Given the description of an element on the screen output the (x, y) to click on. 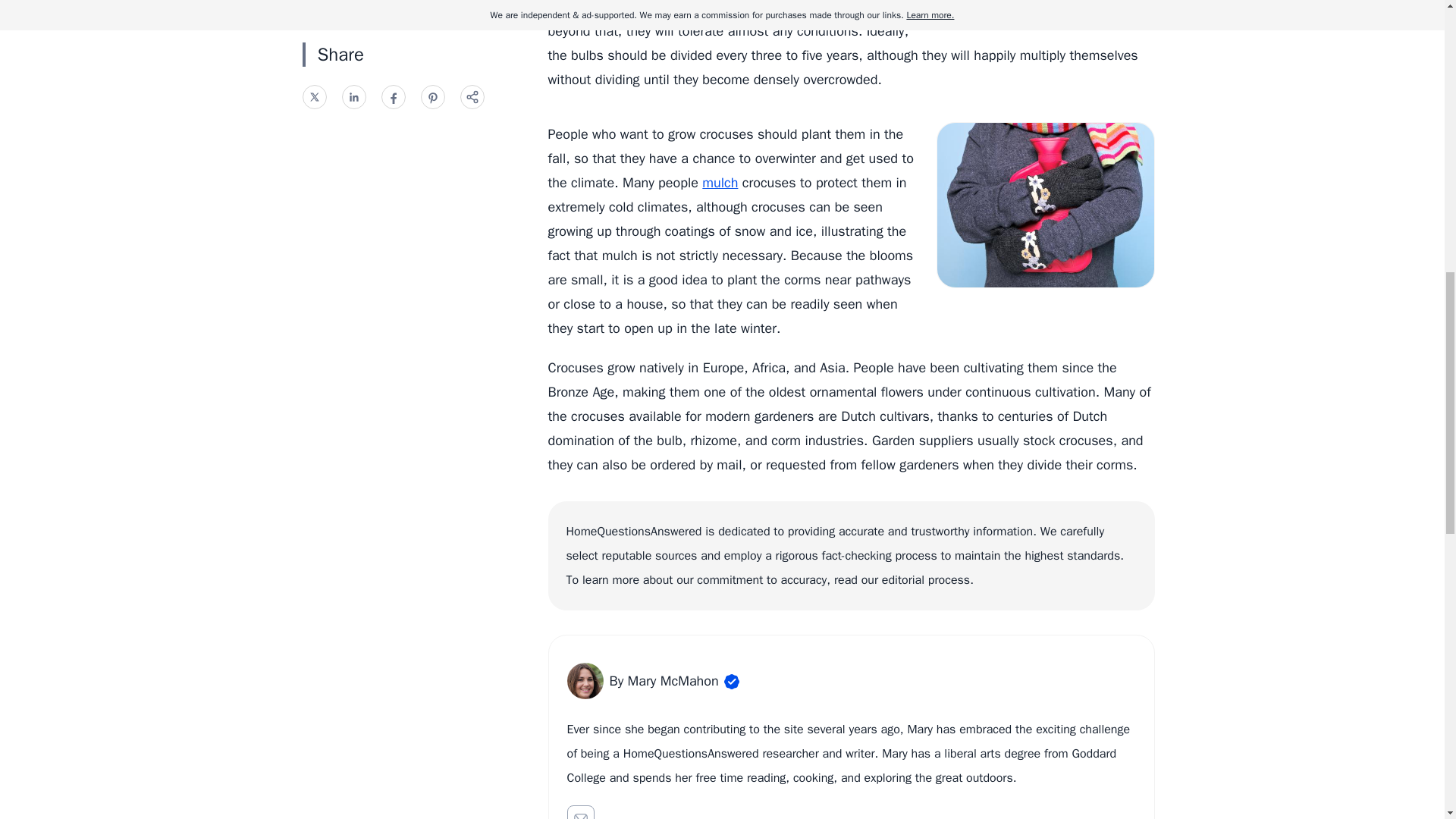
mulch (719, 182)
